Given the description of an element on the screen output the (x, y) to click on. 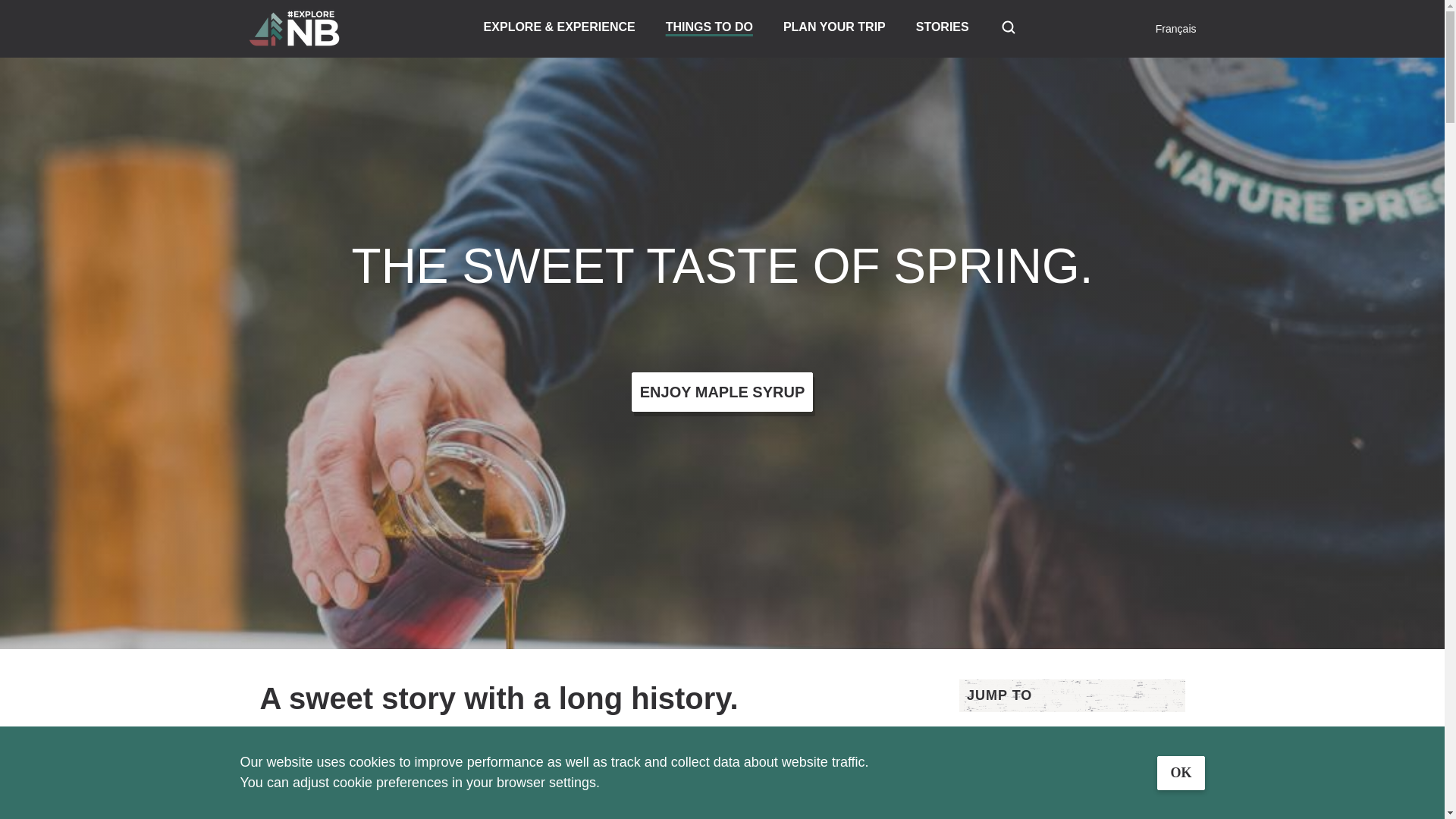
OK (1180, 772)
